Given the description of an element on the screen output the (x, y) to click on. 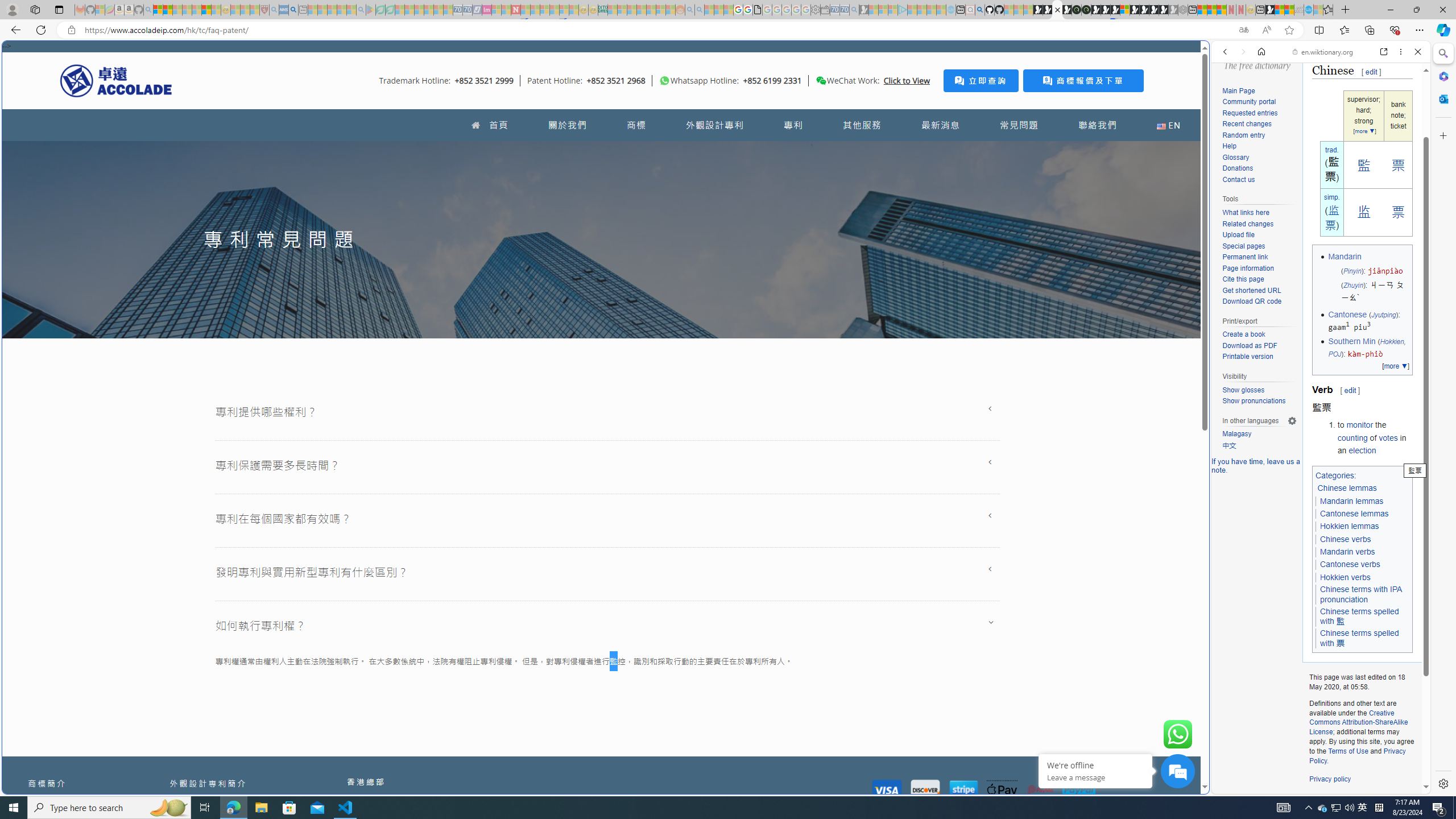
Recent changes (1246, 124)
Zhuyin (1352, 285)
Random entry (1243, 135)
Close split screen (1208, 57)
Class: desktop (821, 80)
Cite this page (1259, 279)
